Given the description of an element on the screen output the (x, y) to click on. 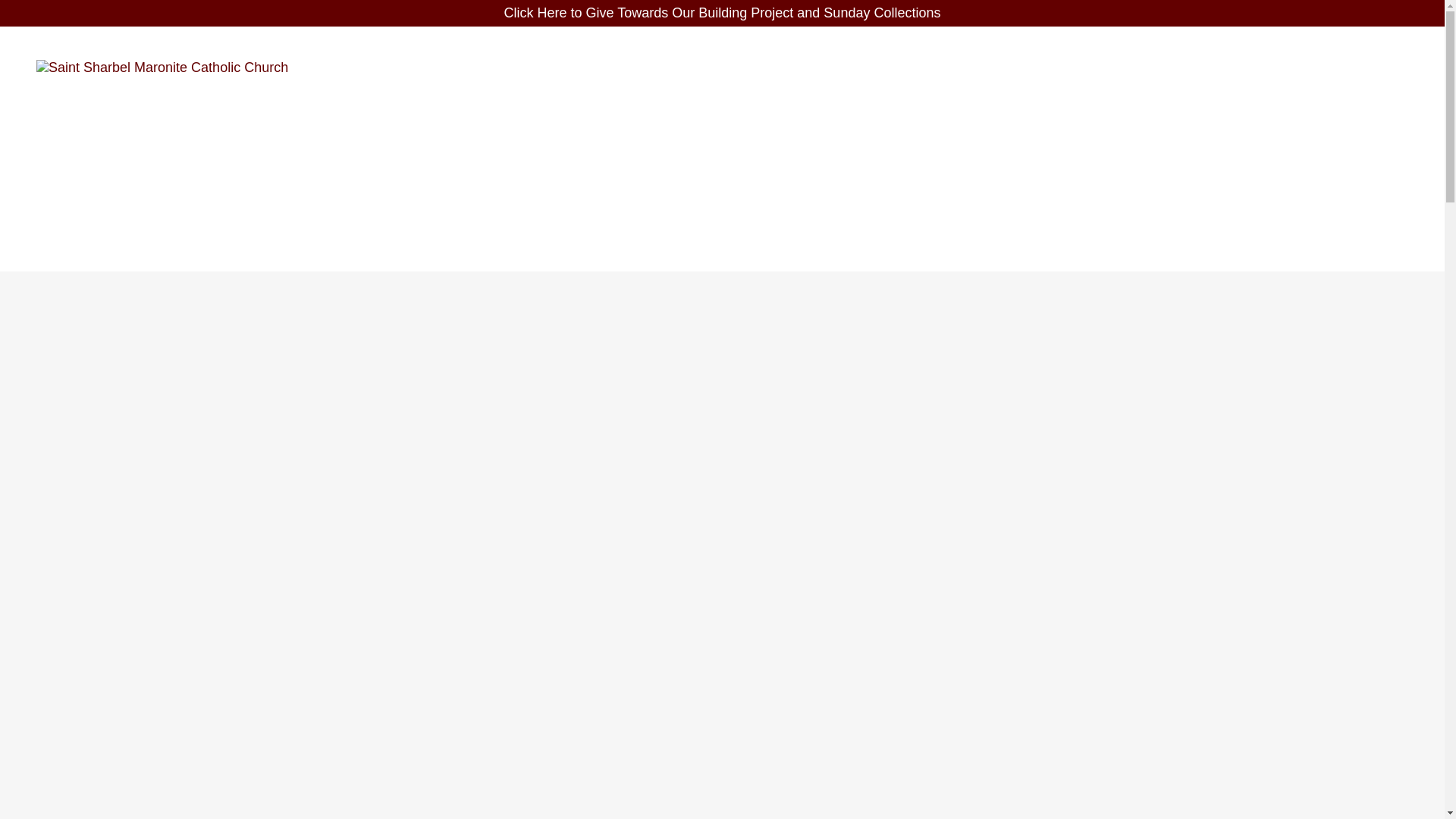
Saint Sharbel Maronite Catholic Church  (162, 67)
